Given the description of an element on the screen output the (x, y) to click on. 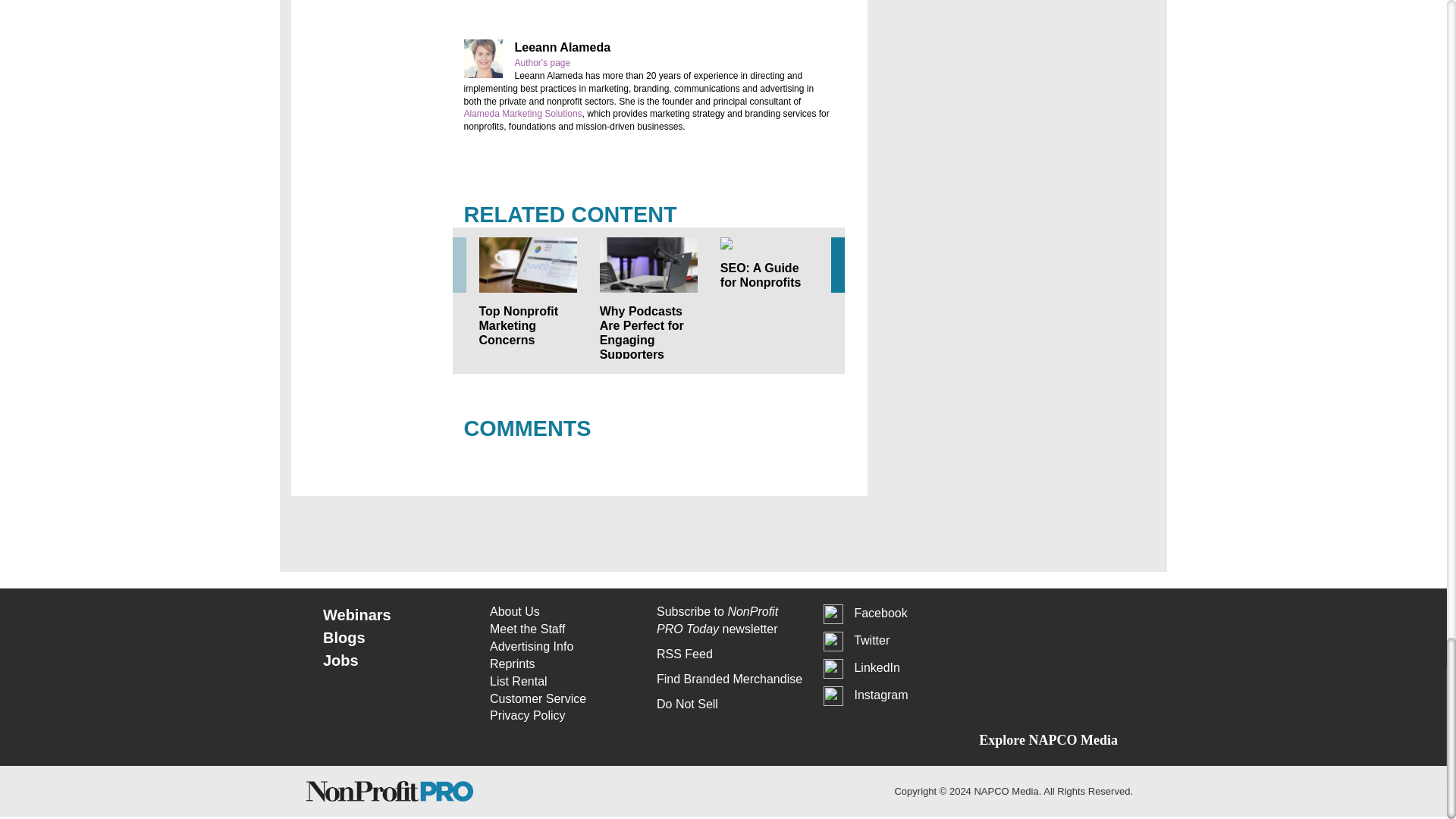
Opens in a new window (564, 715)
Opens in a new window (731, 704)
Opens in a new window (731, 679)
Opens in a new window (523, 113)
Opens in a new window (564, 699)
